Given the description of an element on the screen output the (x, y) to click on. 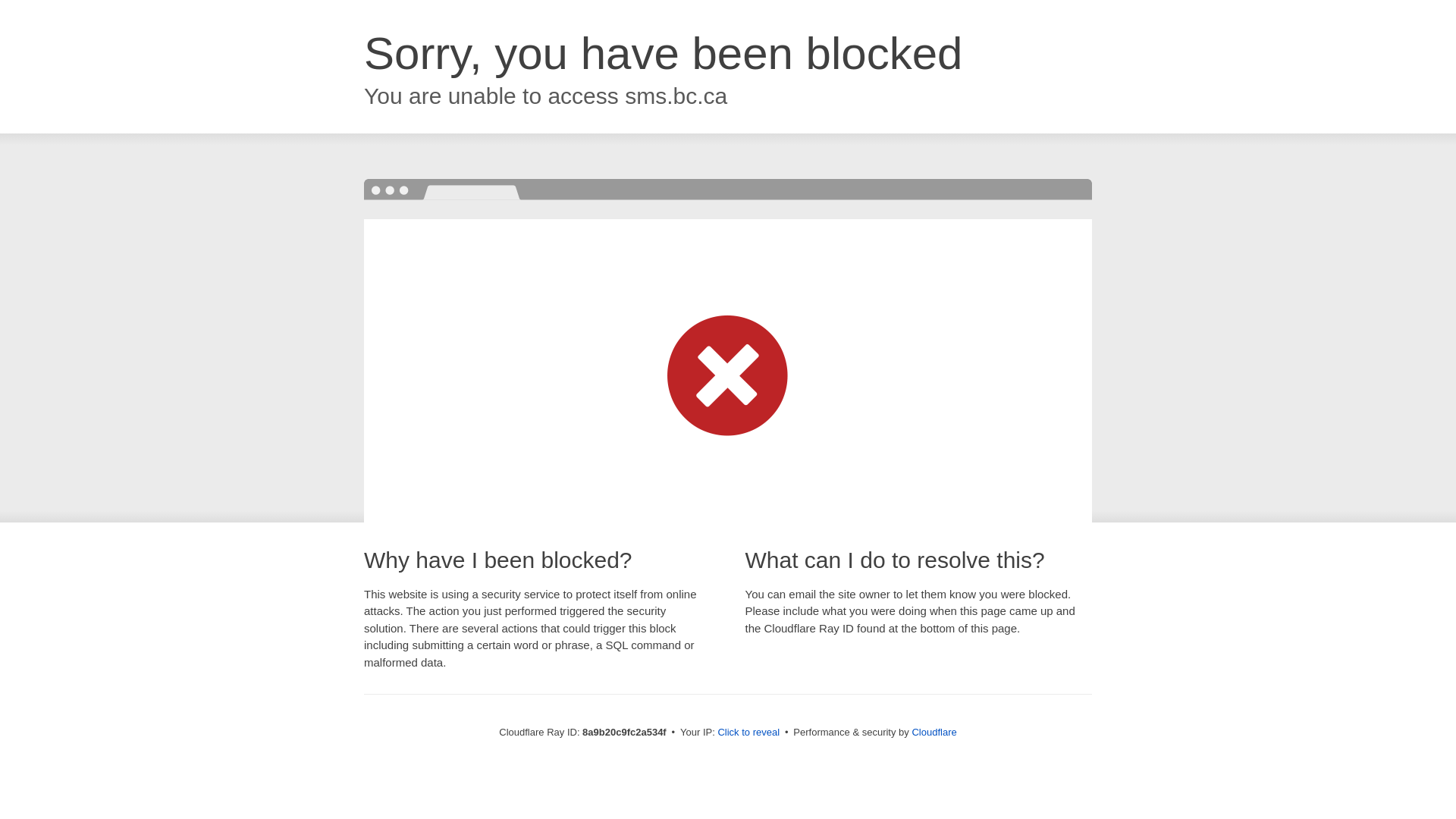
Click to reveal (747, 732)
Cloudflare (933, 731)
